Given the description of an element on the screen output the (x, y) to click on. 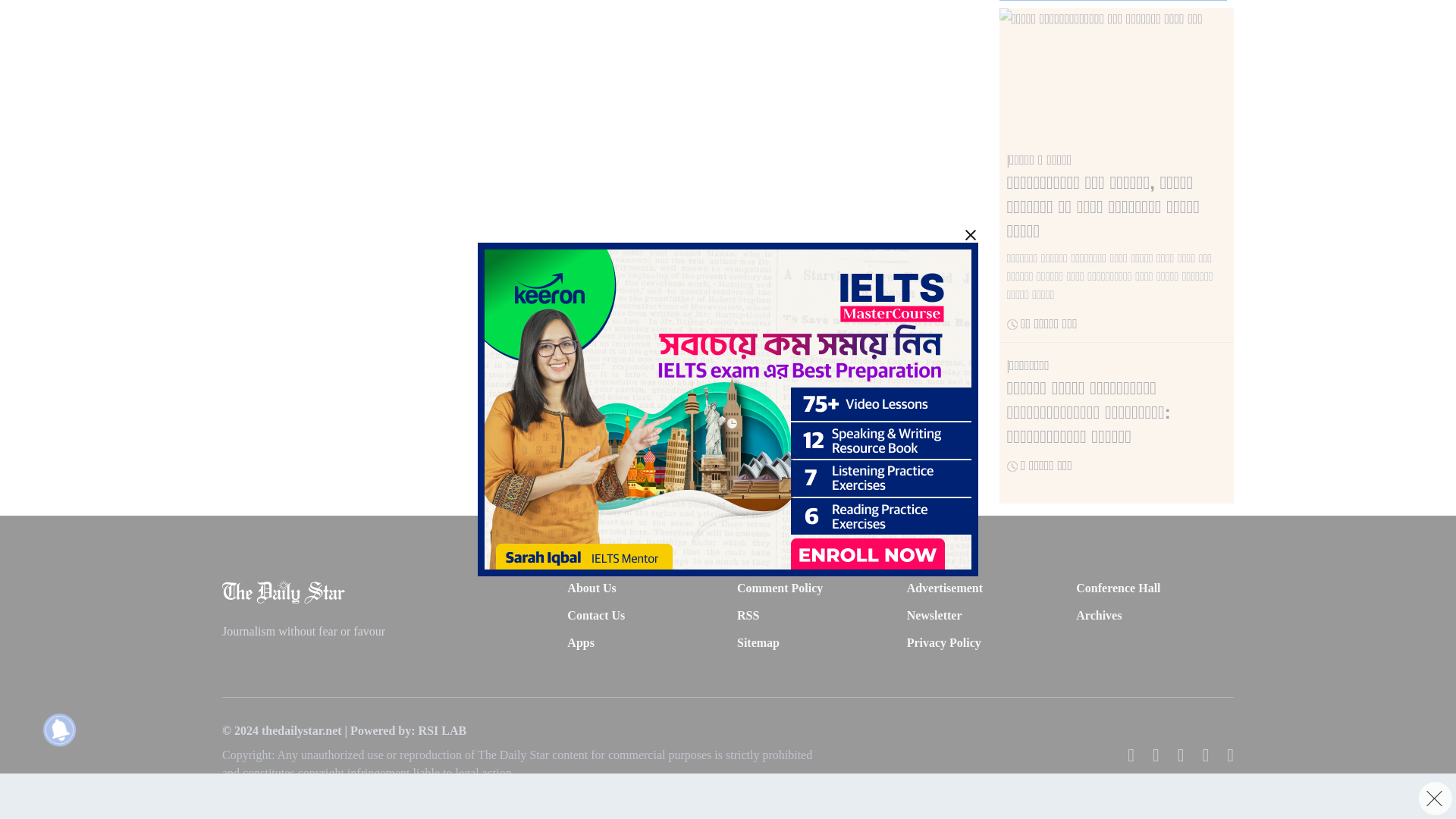
3rd party ad content (720, 181)
3rd party ad content (727, 134)
3rd party ad content (720, 35)
3rd party ad content (338, 84)
